Given the description of an element on the screen output the (x, y) to click on. 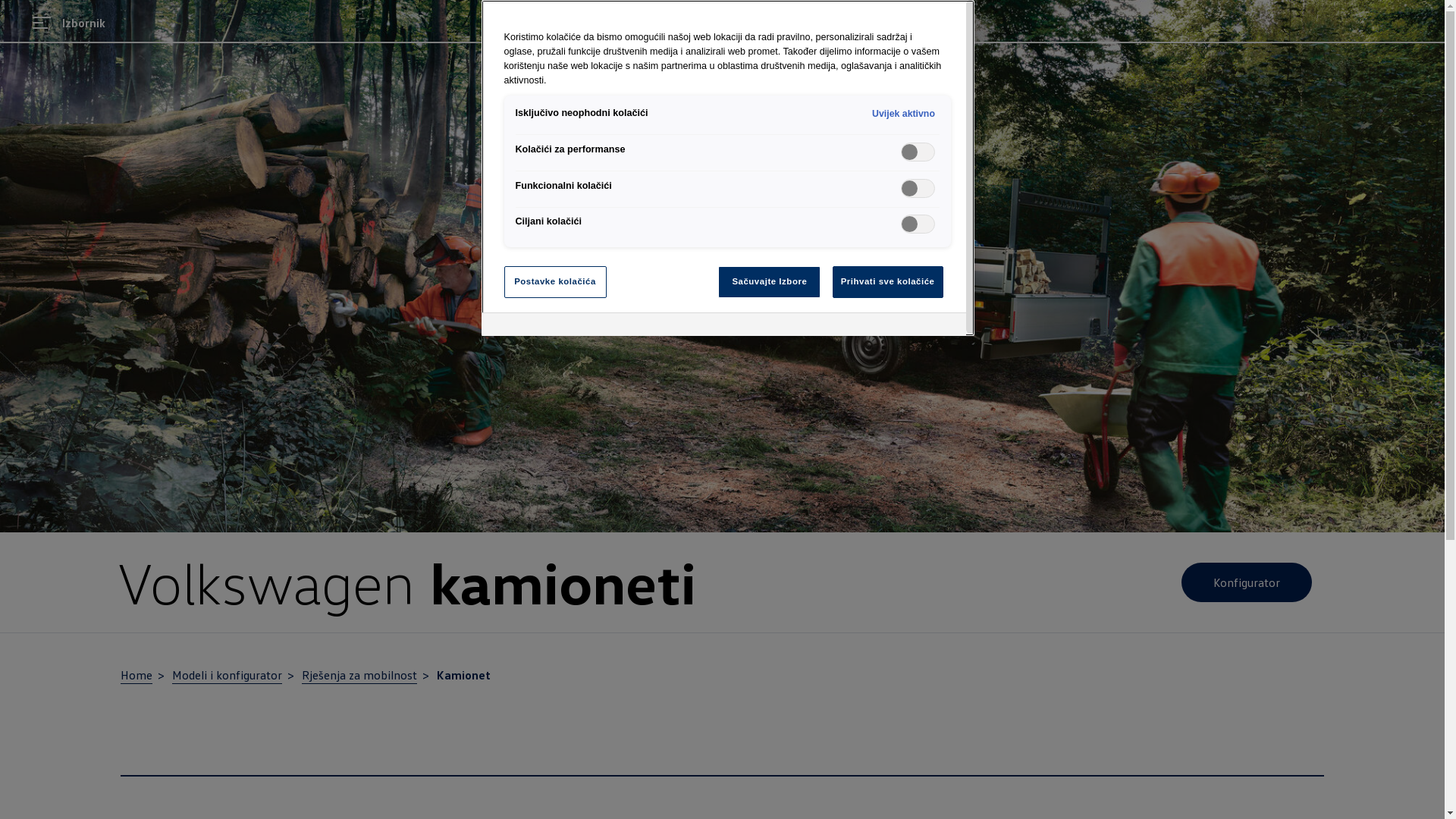
Konfigurator Element type: text (1246, 582)
Modeli i konfigurator Element type: text (227, 675)
Home Element type: text (136, 675)
Kamionet Element type: text (463, 675)
